Given the description of an element on the screen output the (x, y) to click on. 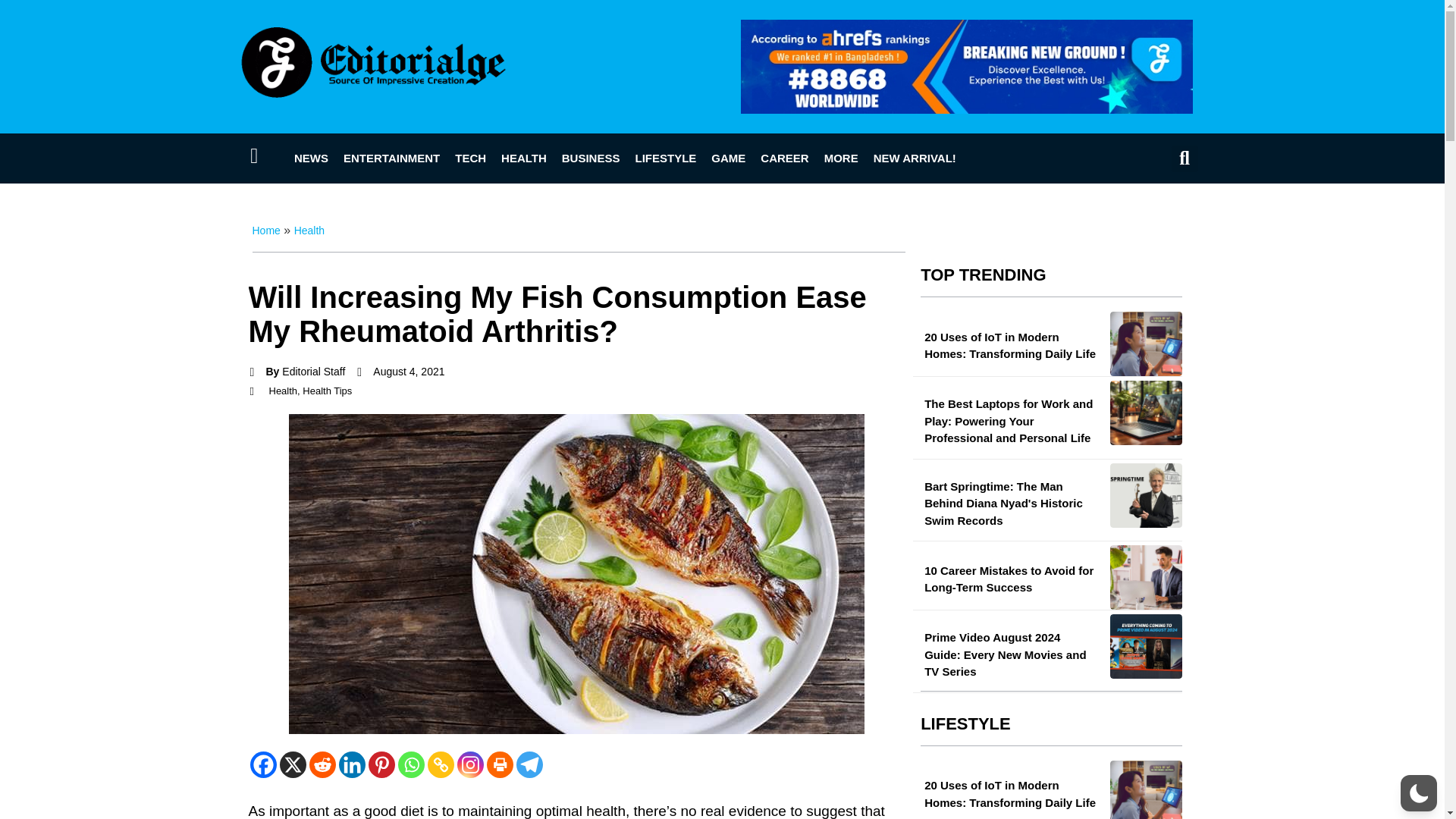
BUSINESS (590, 158)
Whatsapp (410, 764)
Reddit (322, 764)
Pinterest (381, 764)
Instagram (470, 764)
Print (499, 764)
LIFESTYLE (665, 158)
HEALTH (523, 158)
X (292, 764)
GAME (727, 158)
TECH (469, 158)
ENTERTAINMENT (391, 158)
NEWS (311, 158)
Copy Link (441, 764)
Facebook (263, 764)
